Given the description of an element on the screen output the (x, y) to click on. 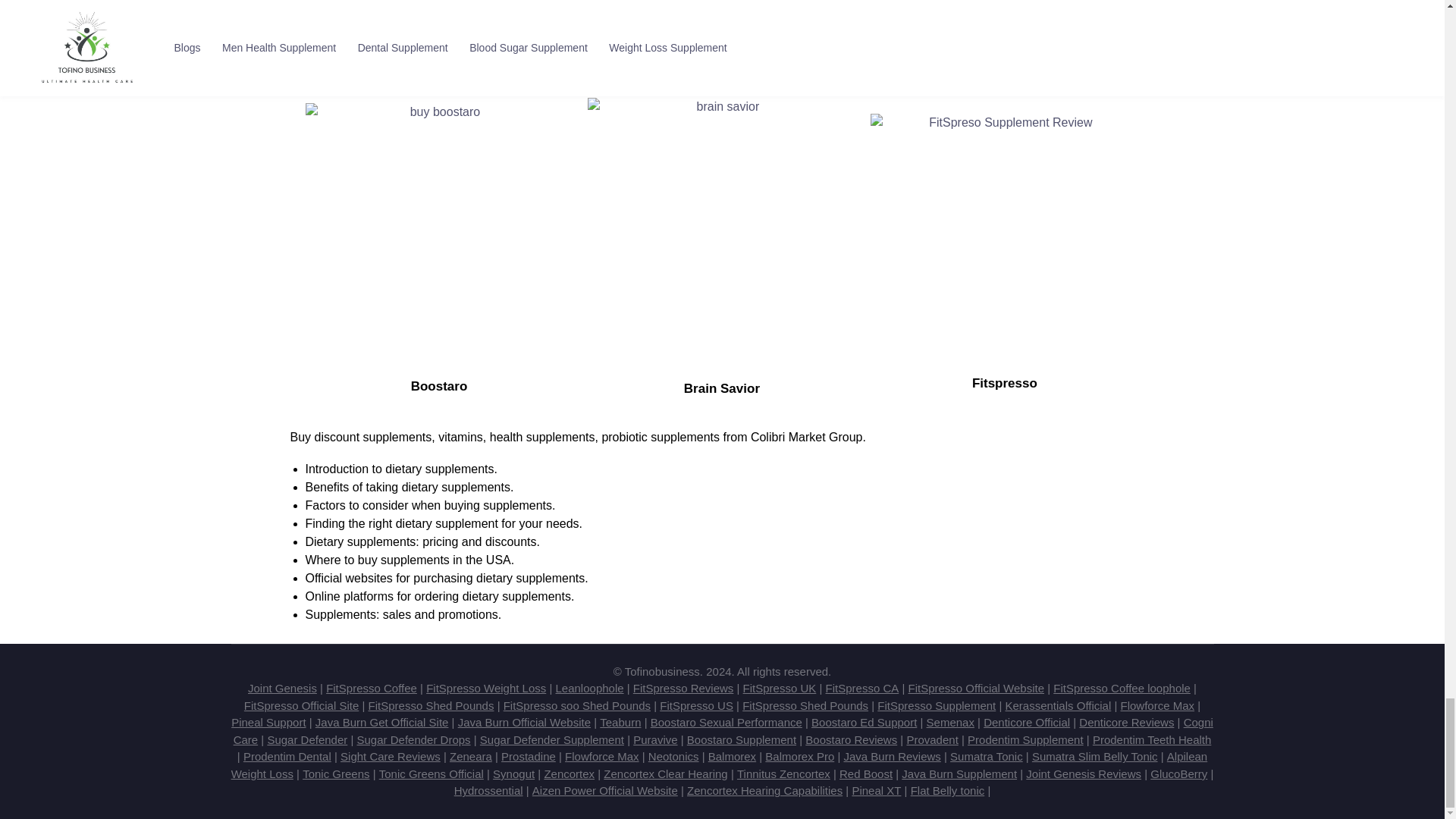
FitSpresso Reviews (683, 687)
FitSpresso CA (862, 687)
FitSpresso Coffee (371, 687)
Leanloophole (588, 687)
FitSpresso Weight Loss (486, 687)
FitSpresso UK (779, 687)
Joint Genesis (282, 687)
